Given the description of an element on the screen output the (x, y) to click on. 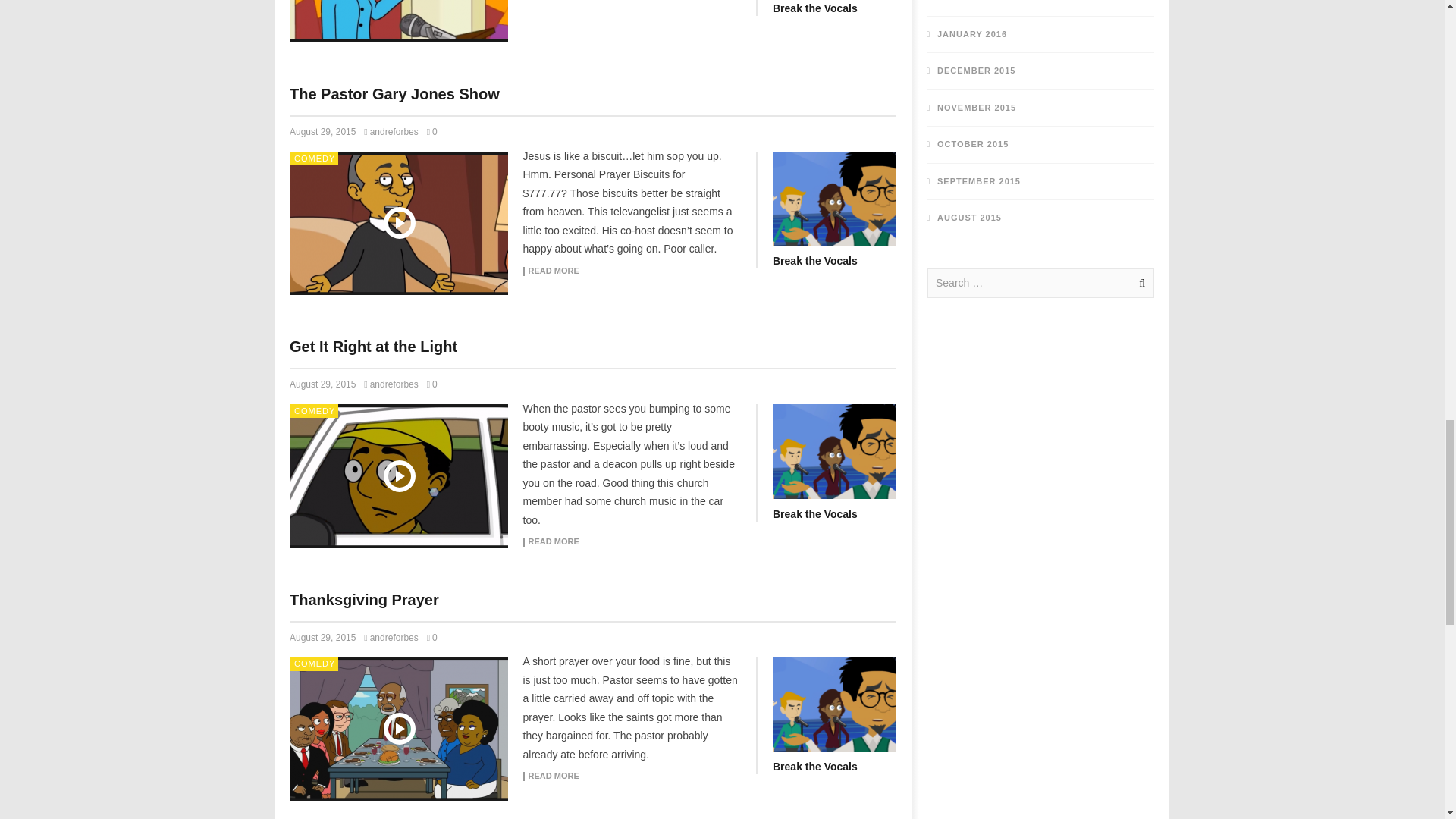
Search (1139, 281)
Search (1139, 281)
